Given the description of an element on the screen output the (x, y) to click on. 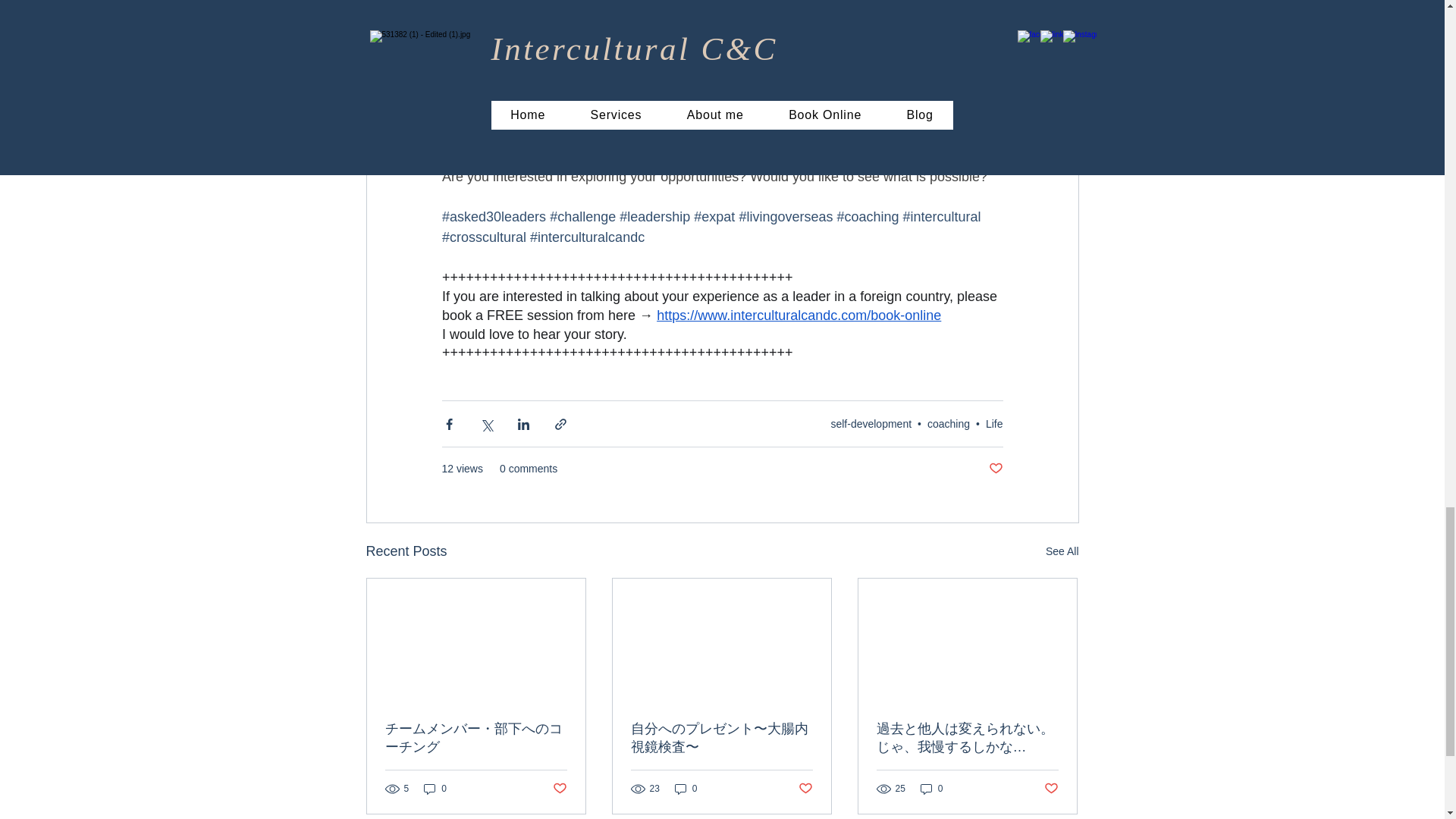
coaching (948, 423)
Life (994, 423)
self-development (870, 423)
